Given the description of an element on the screen output the (x, y) to click on. 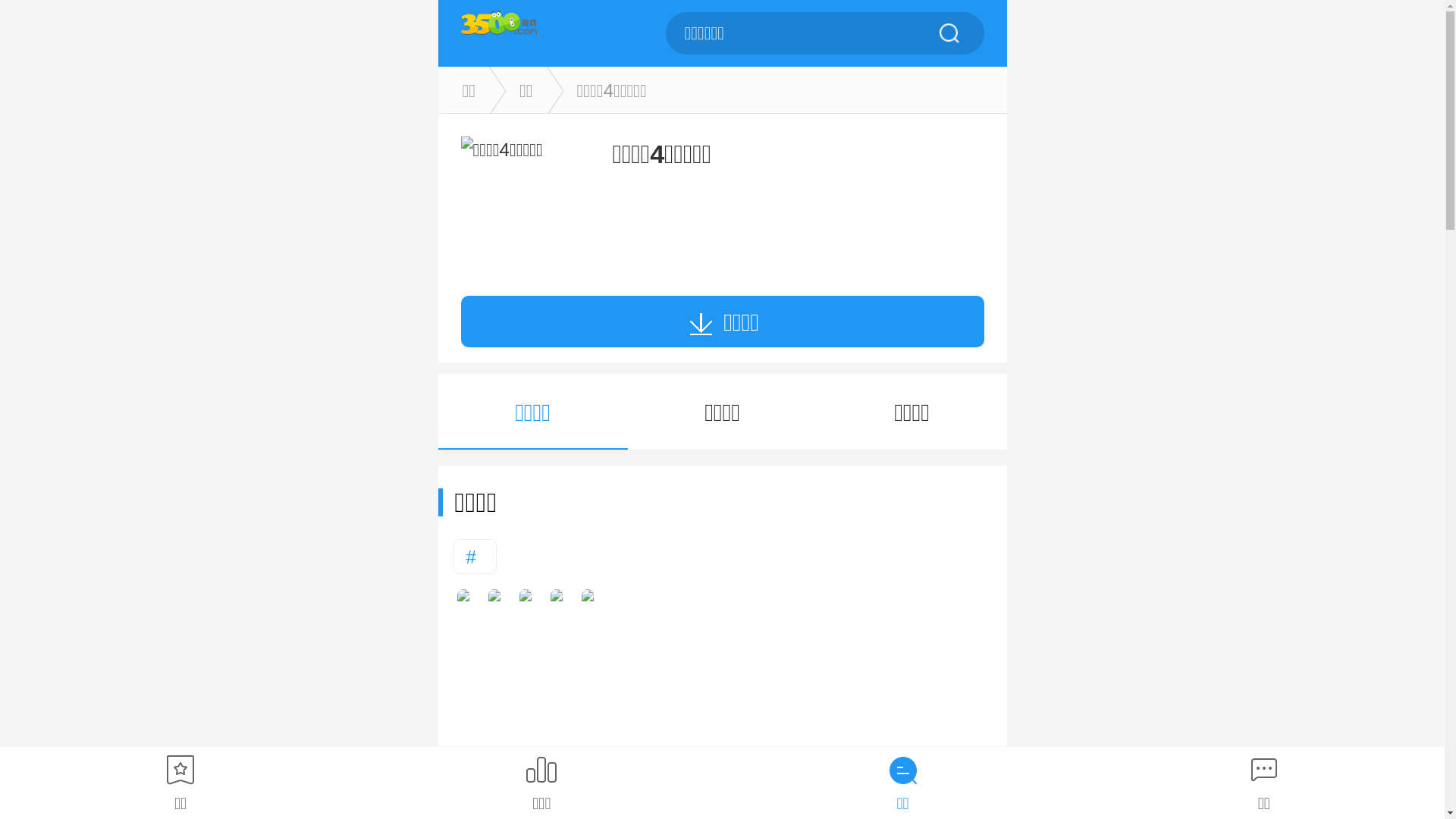
# Element type: text (474, 556)
